Given the description of an element on the screen output the (x, y) to click on. 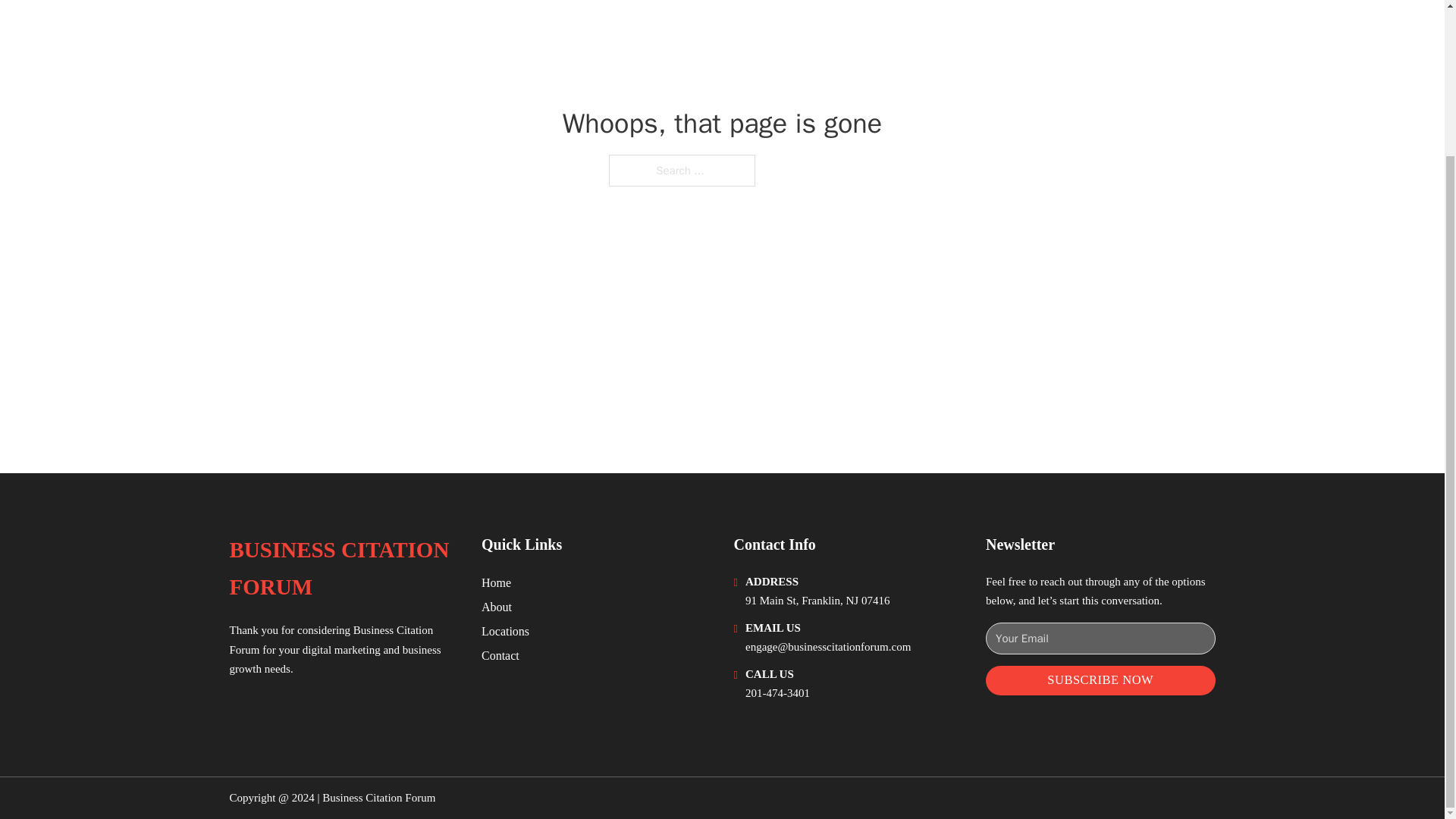
SUBSCRIBE NOW (1100, 680)
Locations (505, 630)
Contact (500, 655)
201-474-3401 (777, 693)
Home (496, 582)
BUSINESS CITATION FORUM (343, 568)
About (496, 607)
